Given the description of an element on the screen output the (x, y) to click on. 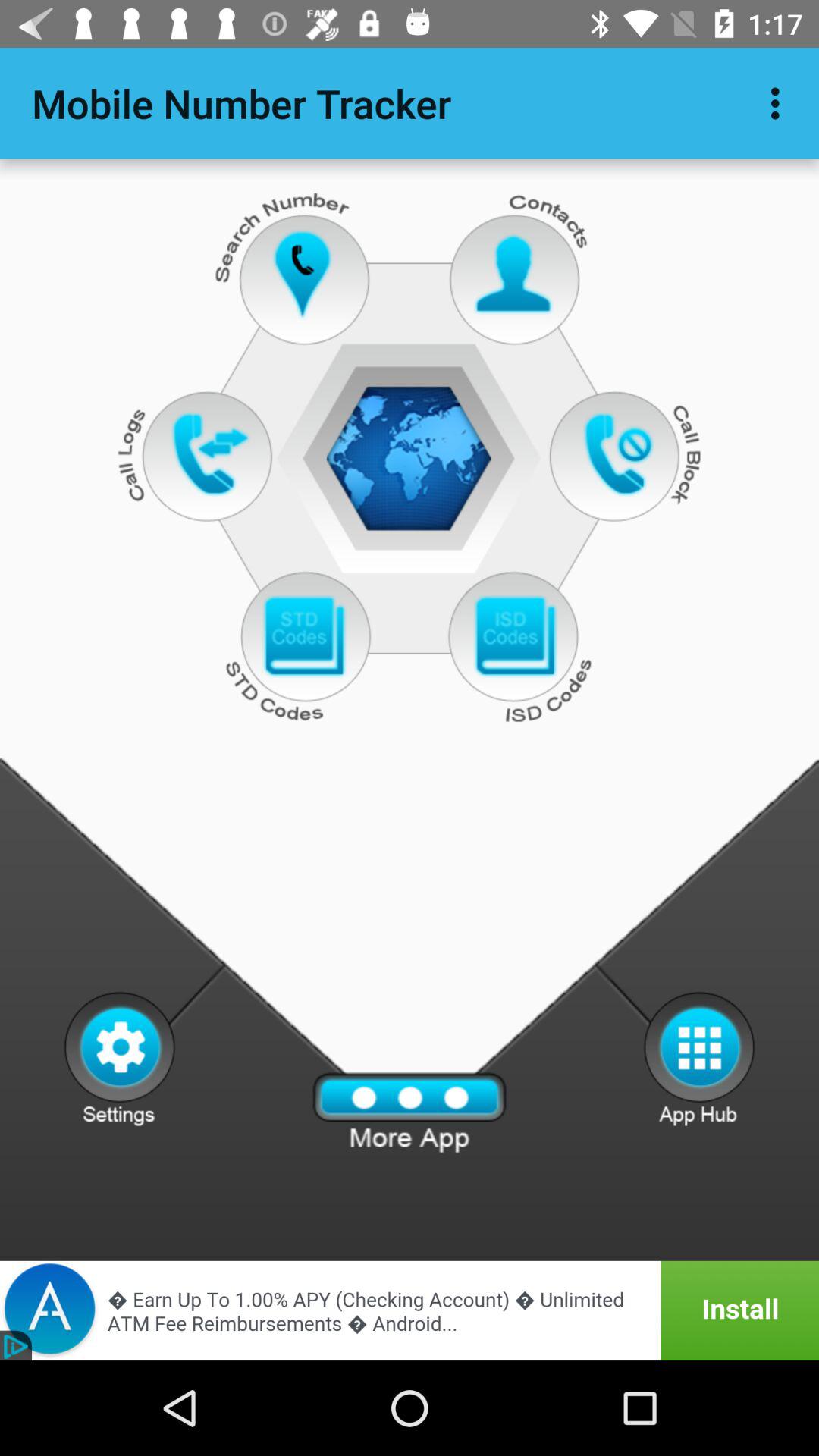
app hub (698, 1057)
